Given the description of an element on the screen output the (x, y) to click on. 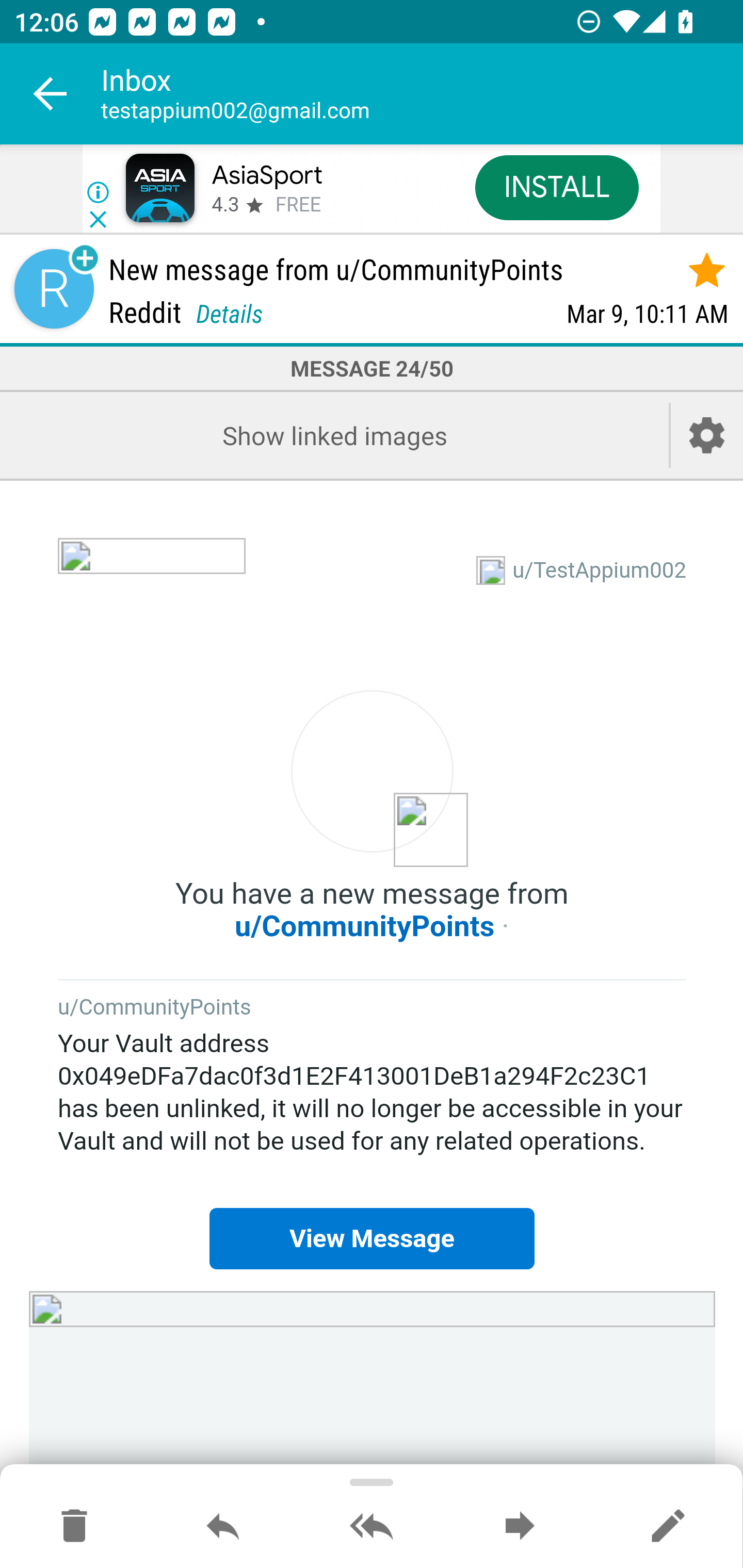
Navigate up (50, 93)
Inbox testappium002@gmail.com (422, 93)
INSTALL (556, 187)
AsiaSport (267, 175)
Sender contact button (53, 289)
Show linked images (334, 435)
Account setup (706, 435)
stf_2bQVGEViGYSLoH-p_cp8TnCmUzbskHpp7opWl8g=343 (151, 571)
u/TestAppium002 (599, 570)
k953CYlMaTwh0p01IfXylAjA30qx0TiRyAzDNki6bpM=343 (372, 778)
u/CommunityPoints (364, 925)
u/CommunityPoints (154, 1008)
View Message (371, 1239)
UYHsm_VYdYvrX6v8bW6ZUcCFyZNFLLb_4kchyJ3FWK8=343 (372, 1363)
Move to Deleted (74, 1527)
Reply (222, 1527)
Reply all (371, 1527)
Forward (519, 1527)
Reply as new (667, 1527)
